Given the description of an element on the screen output the (x, y) to click on. 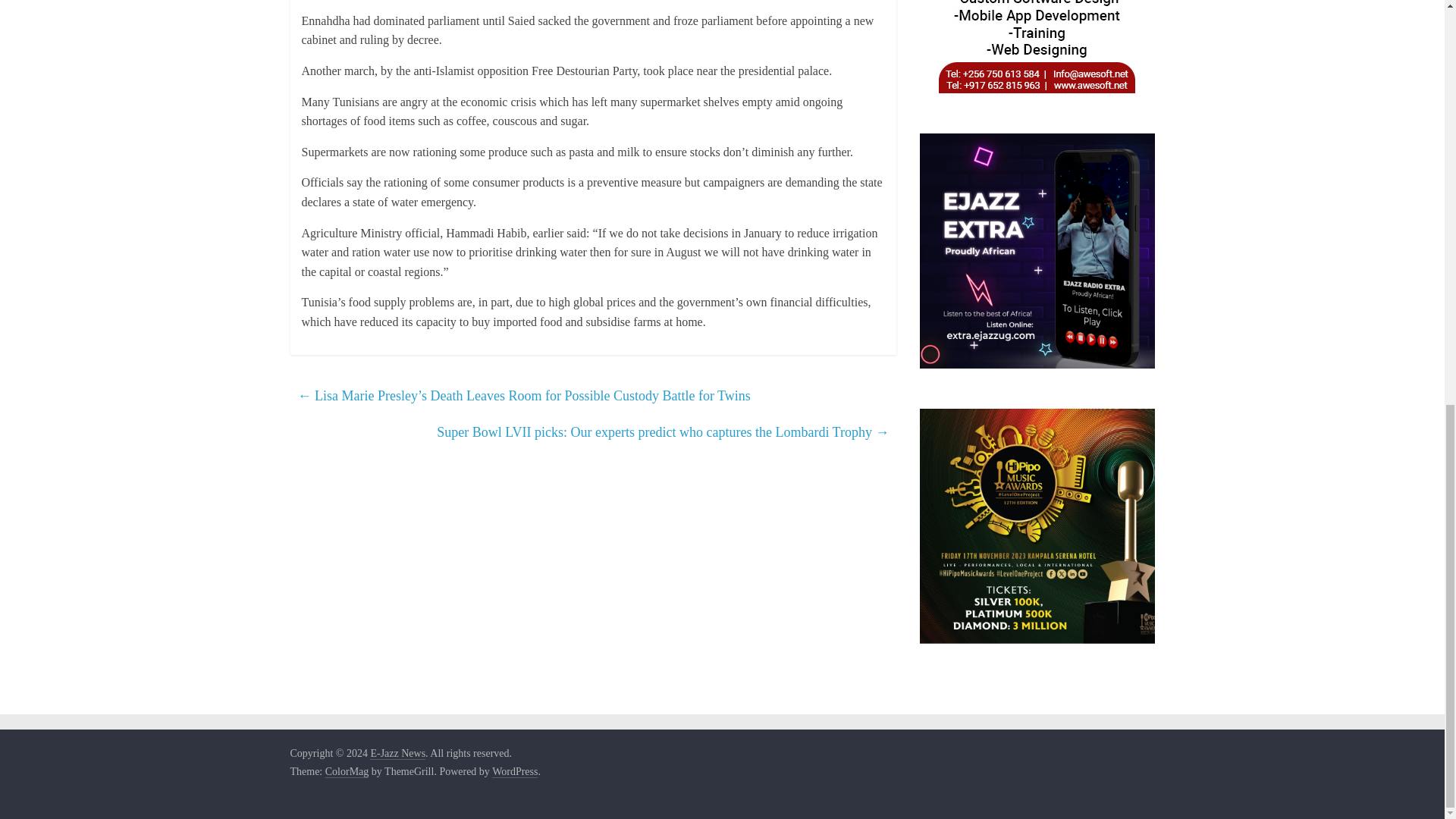
ColorMag (346, 771)
ColorMag (346, 771)
E-Jazz News (397, 753)
WordPress (514, 771)
E-Jazz News (397, 753)
